Given the description of an element on the screen output the (x, y) to click on. 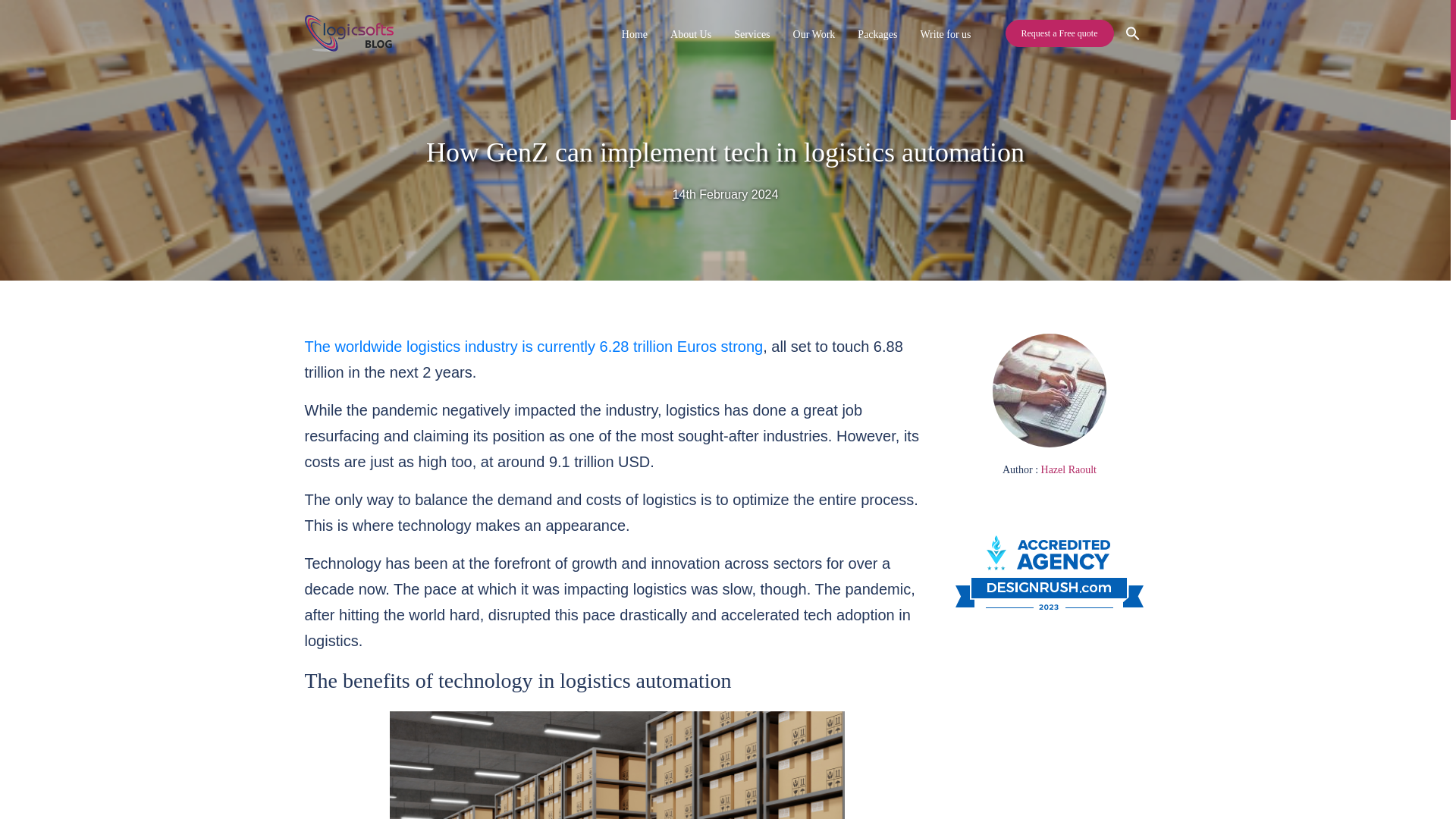
Services (752, 34)
Request a Free quote (1059, 32)
About Us (690, 34)
Packages (876, 34)
Home (634, 34)
Hazel Raoult (1068, 469)
Write for us (945, 34)
Our Work (814, 34)
